Given the description of an element on the screen output the (x, y) to click on. 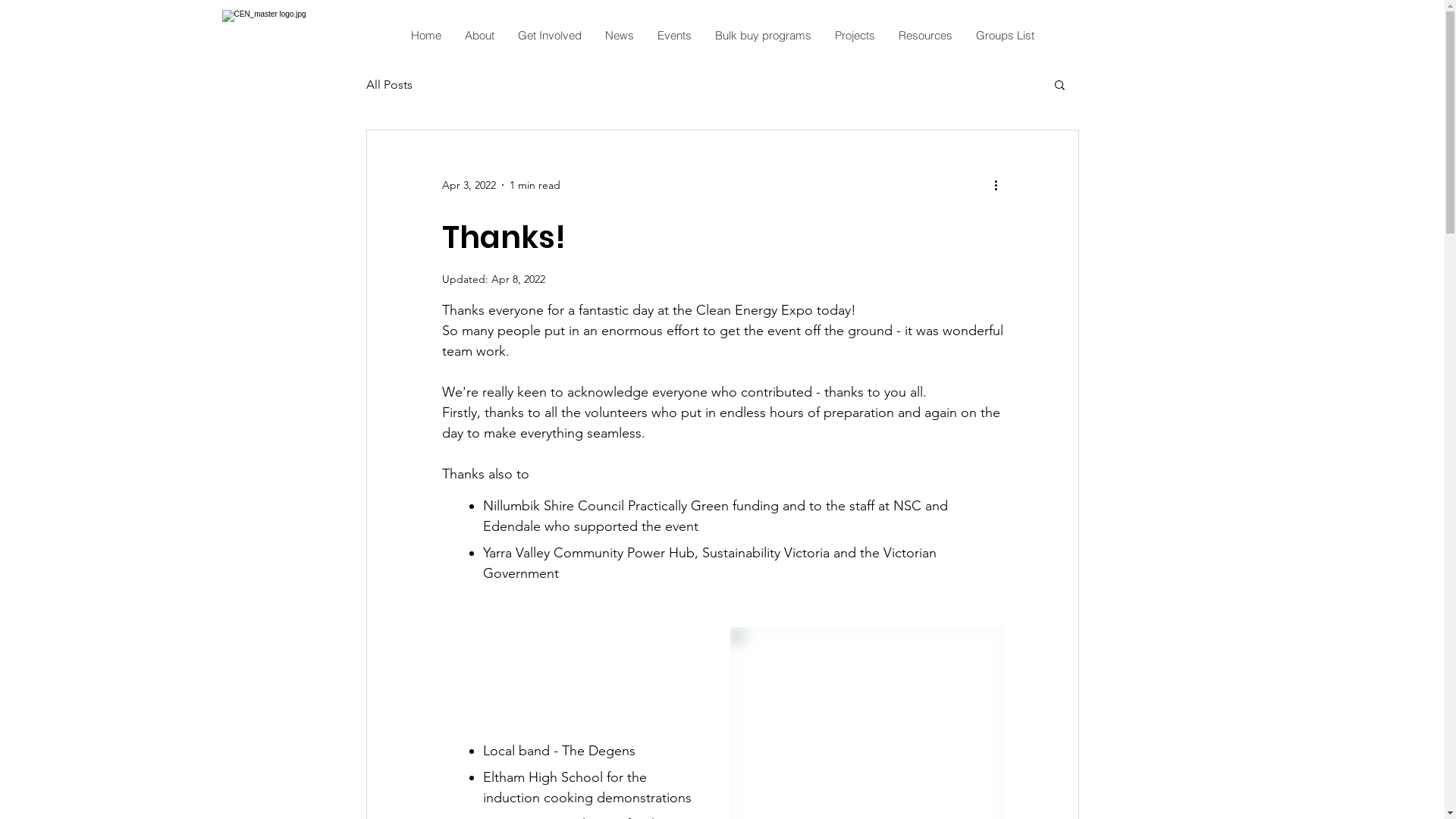
Events Element type: text (673, 35)
Get Involved Element type: text (549, 35)
Groups List Element type: text (1004, 35)
Bulk buy programs Element type: text (762, 35)
Resources Element type: text (924, 35)
All Posts Element type: text (388, 84)
Home Element type: text (425, 35)
News Element type: text (619, 35)
Projects Element type: text (854, 35)
About Element type: text (478, 35)
